Given the description of an element on the screen output the (x, y) to click on. 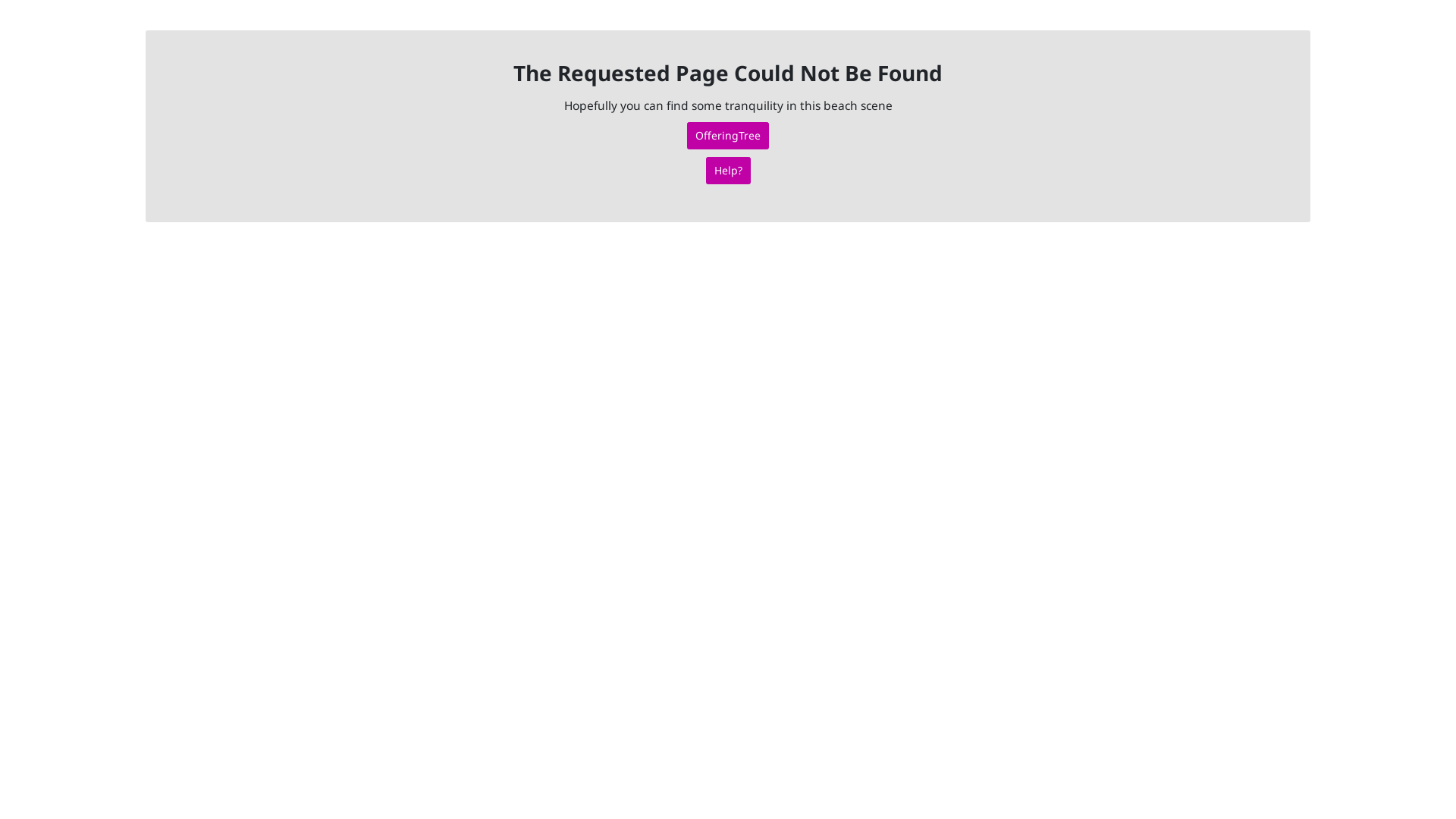
OfferingTree Element type: text (727, 135)
Help? Element type: text (727, 170)
